Given the description of an element on the screen output the (x, y) to click on. 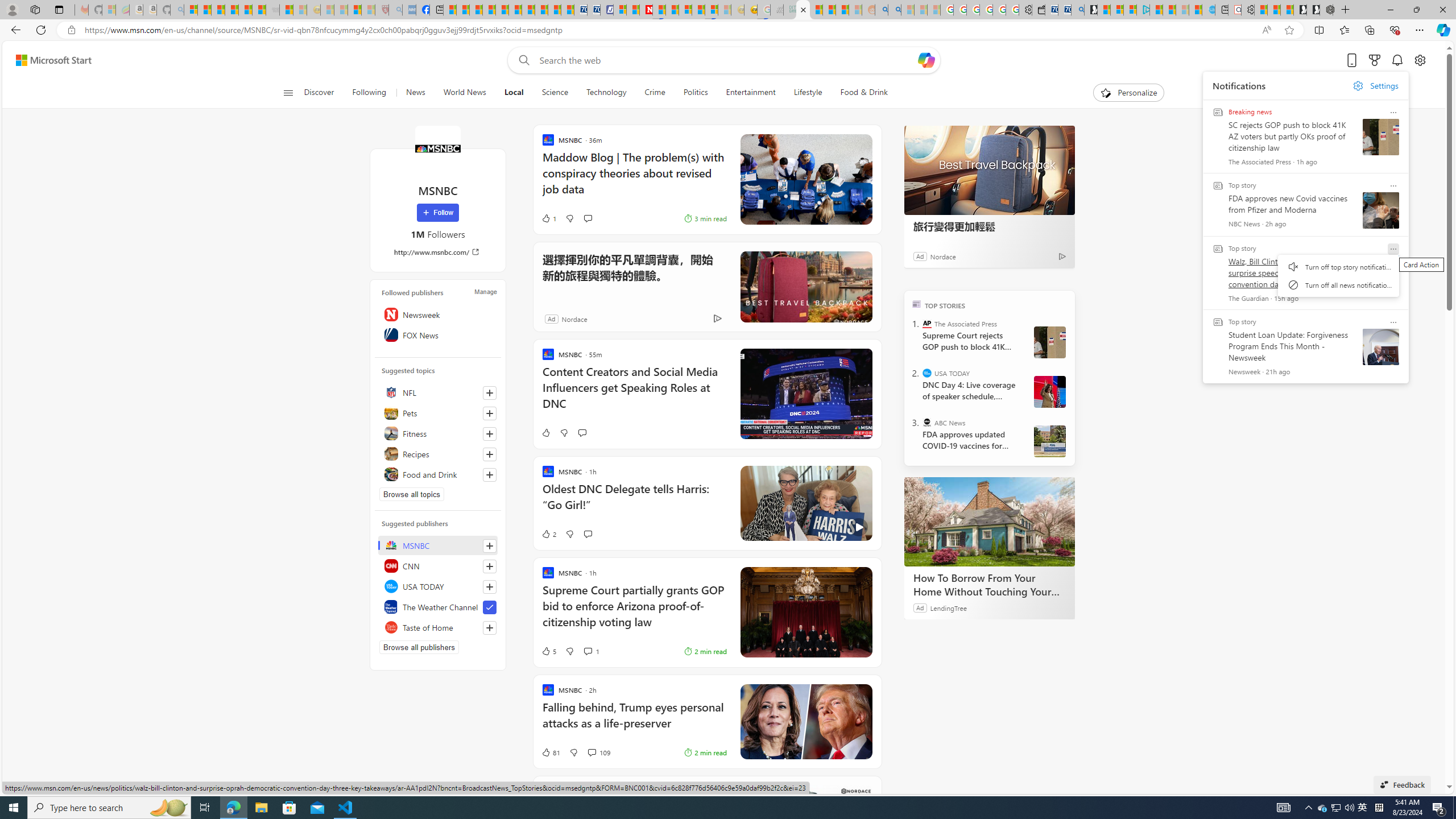
Climate Damage Becomes Too Severe To Reverse (488, 9)
5 Like (547, 650)
USA TODAY (437, 586)
Browse all publishers (419, 647)
Turn off all news notifications (1338, 285)
AutomationID: notification-menu-container (1338, 275)
